Given the description of an element on the screen output the (x, y) to click on. 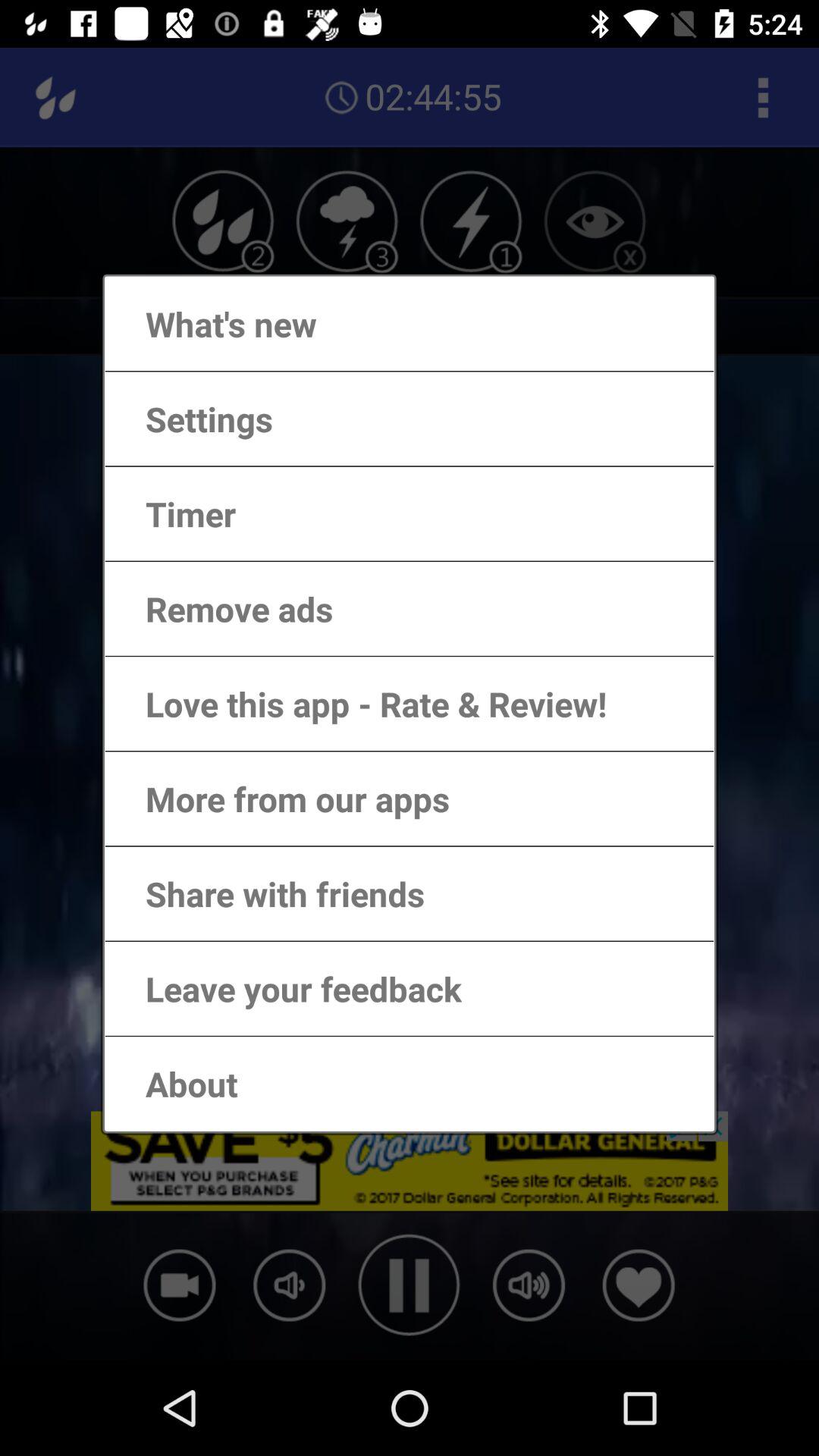
flip until the about (176, 1083)
